Given the description of an element on the screen output the (x, y) to click on. 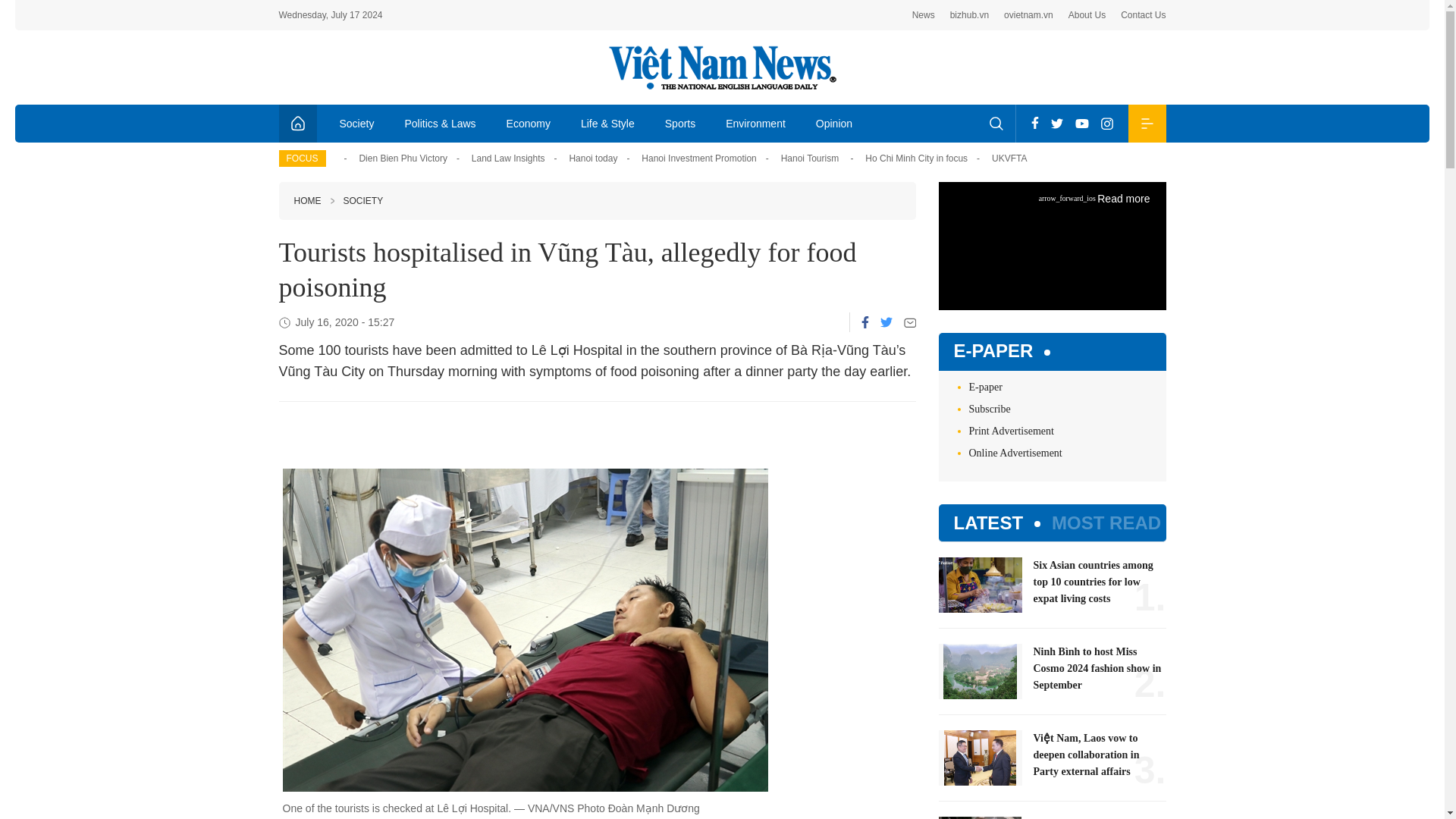
Twitter (1056, 122)
Environment (755, 123)
About Us (1086, 15)
bizhub.vn (969, 15)
Email (909, 321)
Facebook (865, 322)
Facebook (1035, 123)
Contact Us (1143, 15)
Twitter (885, 321)
ovietnam.vn (1028, 15)
Opinion (833, 123)
Youtube (1081, 122)
News (923, 15)
Instagram (1106, 123)
Society (357, 123)
